Given the description of an element on the screen output the (x, y) to click on. 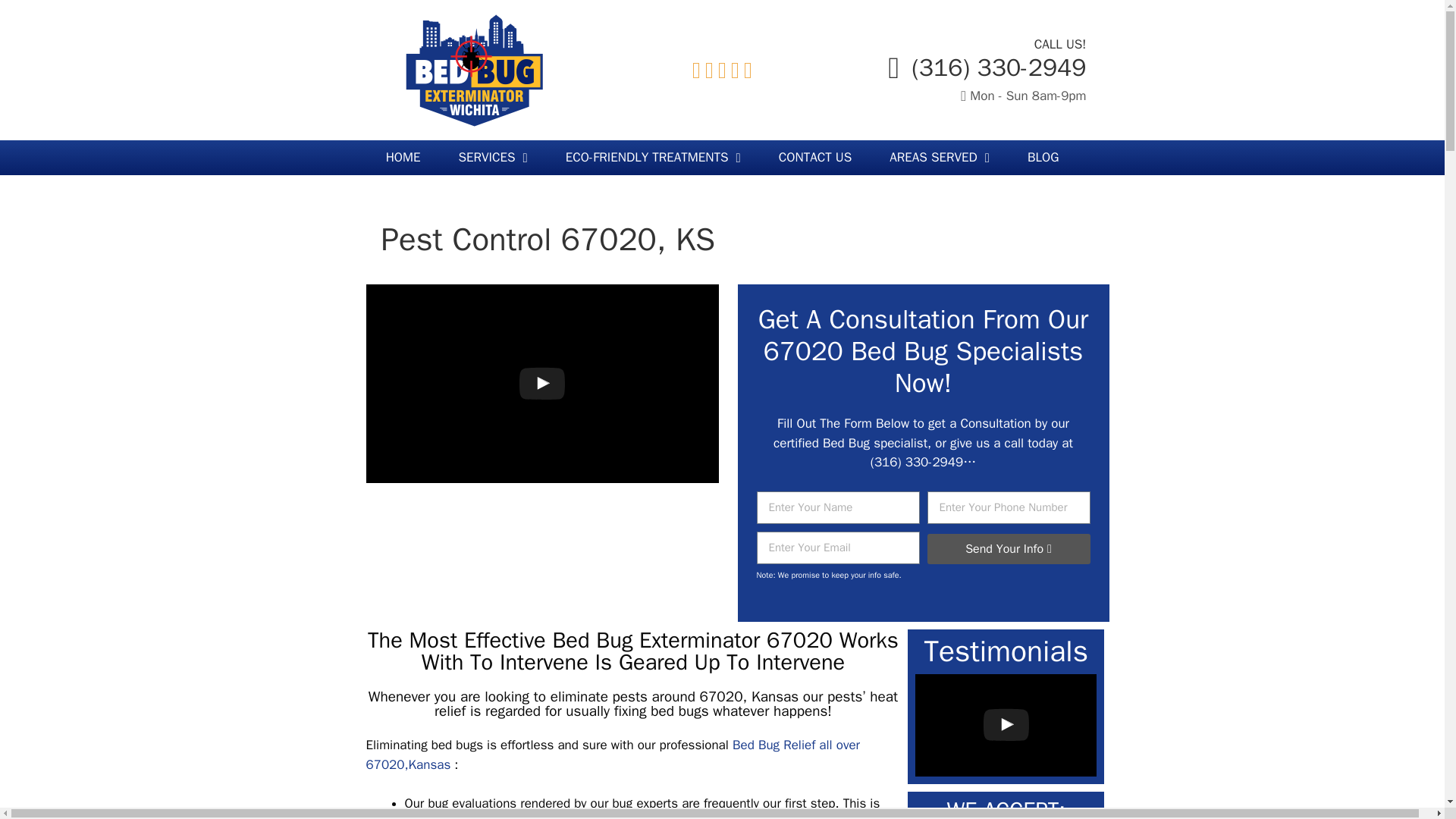
SERVICES (493, 157)
HOME (402, 157)
AREAS SERVED (939, 157)
ECO-FRIENDLY TREATMENTS (653, 157)
CONTACT US (815, 157)
